Given the description of an element on the screen output the (x, y) to click on. 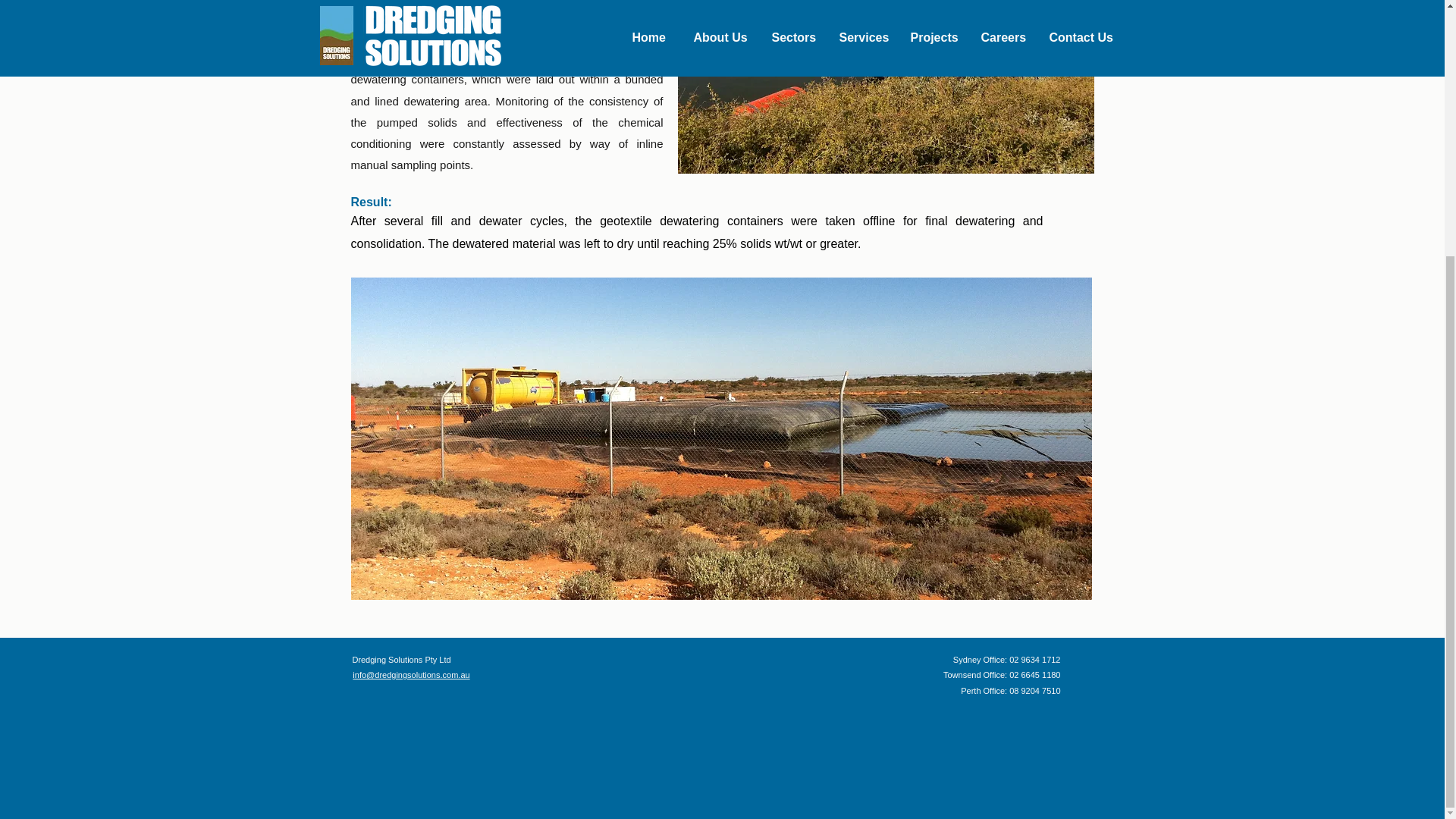
Sydney Office: 02 9634 1712 (1007, 659)
